Given the description of an element on the screen output the (x, y) to click on. 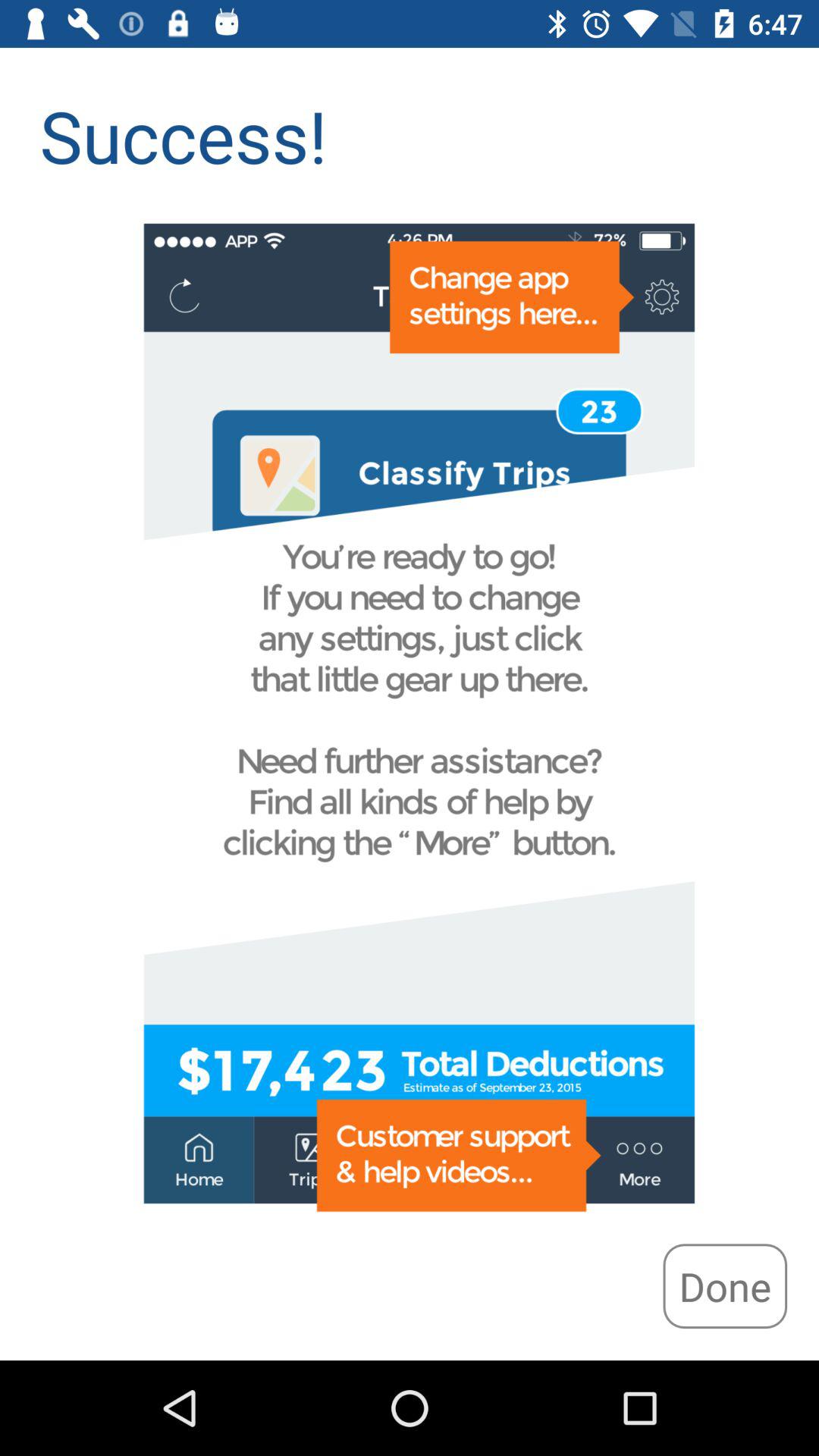
open the icon at the bottom right corner (725, 1285)
